Given the description of an element on the screen output the (x, y) to click on. 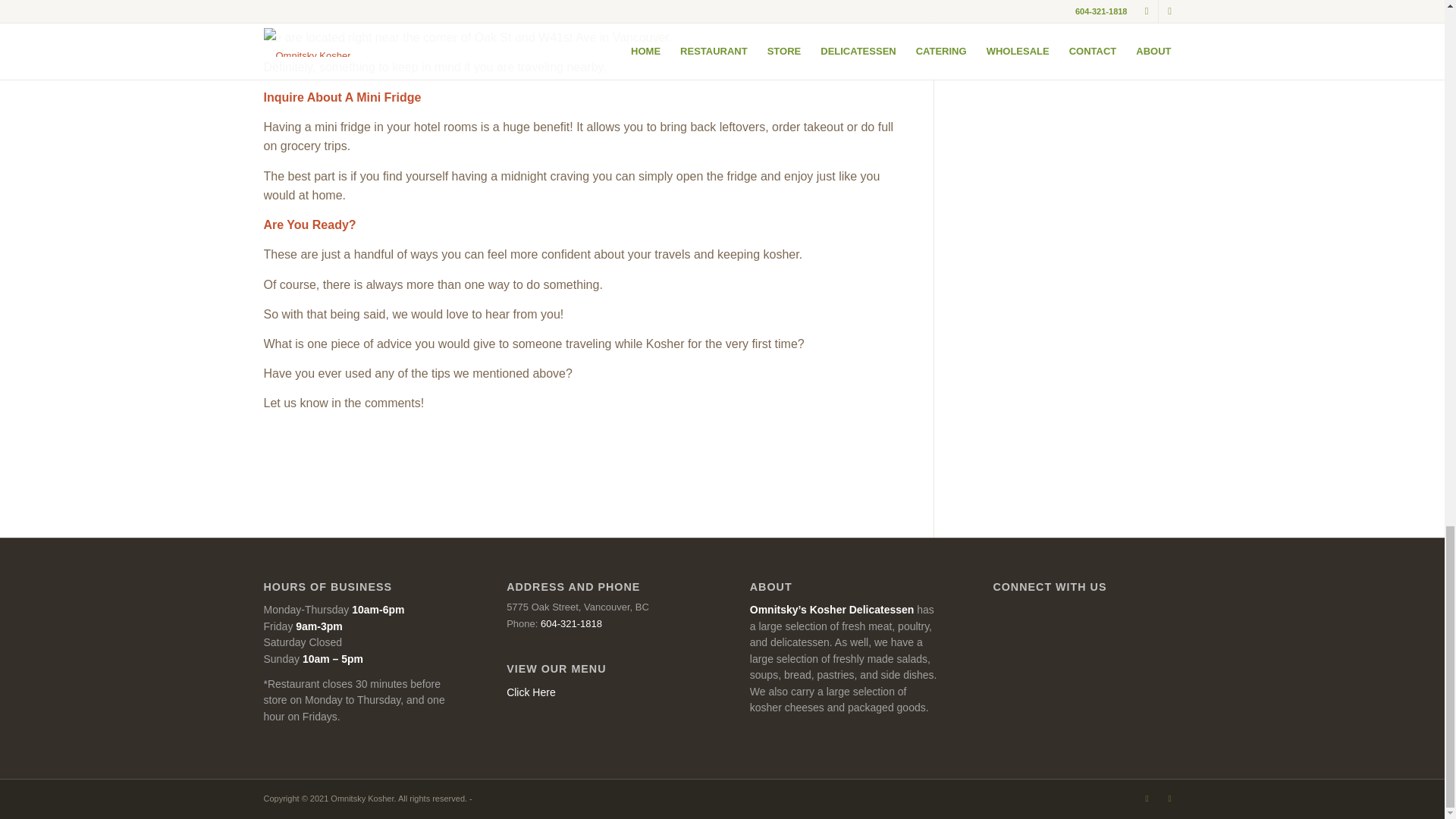
Facebook (1169, 798)
Twitter (1146, 798)
604-321-1818 (571, 623)
Click Here (531, 692)
